Given the description of an element on the screen output the (x, y) to click on. 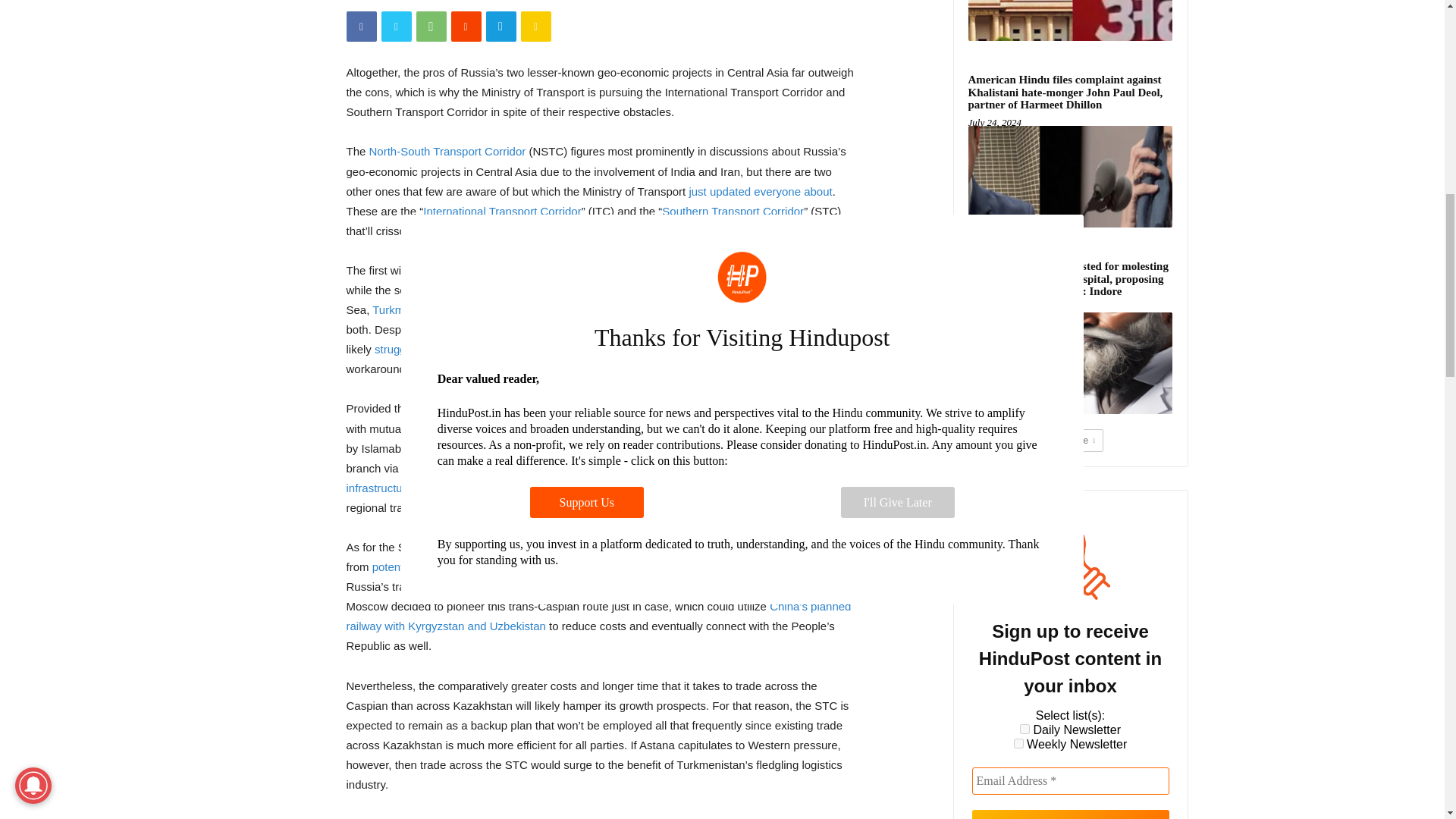
Sign Up! (1070, 814)
9 (1018, 743)
3 (1024, 728)
